Given the description of an element on the screen output the (x, y) to click on. 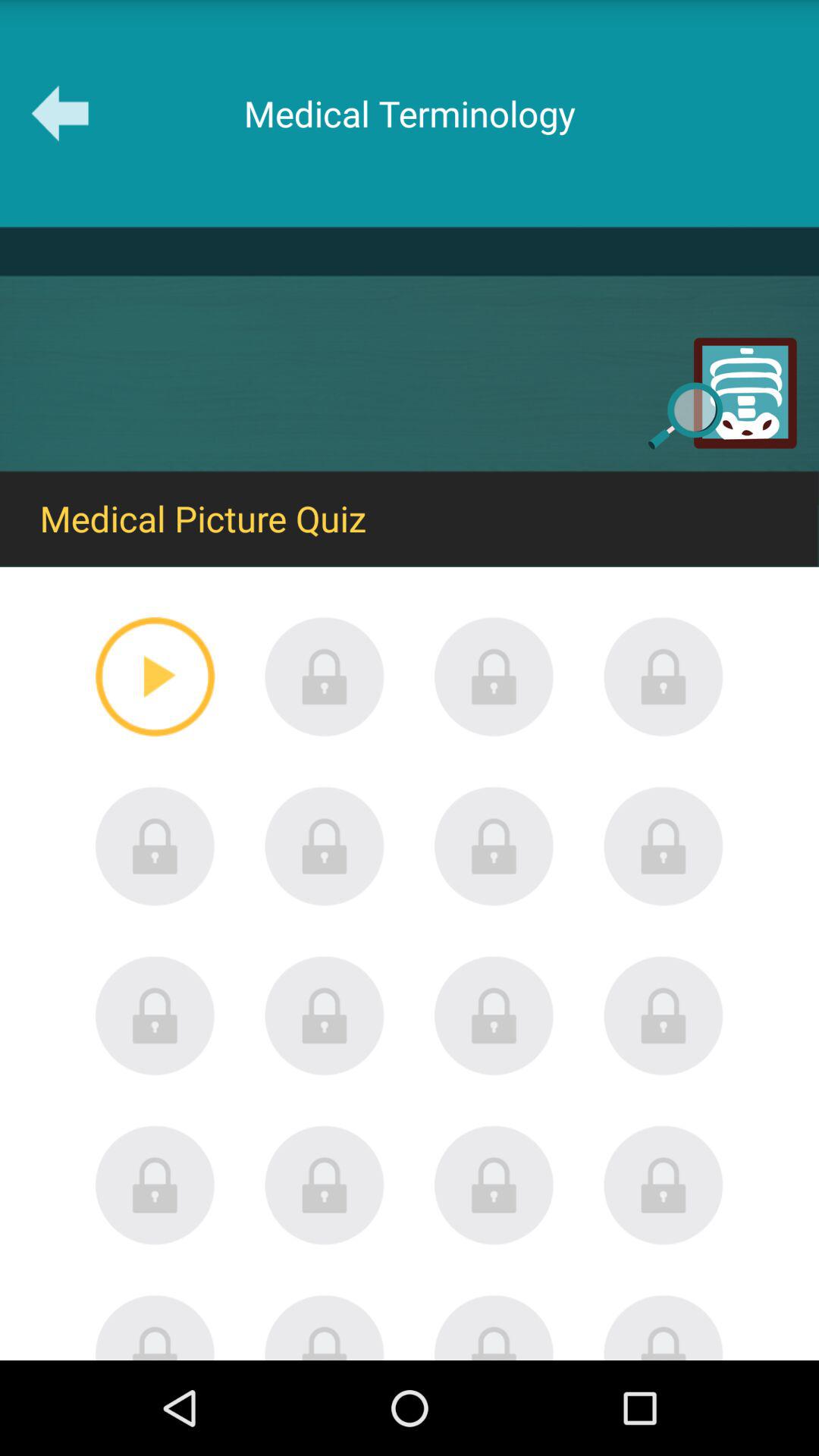
select the icon of first row lastone (663, 676)
select the second line fourth lock icon (663, 845)
click on the lock image of 1st column 4th row (155, 1184)
select the last button which is on bottom right (663, 1327)
select the second symbol in the second row from left (324, 845)
